Given the description of an element on the screen output the (x, y) to click on. 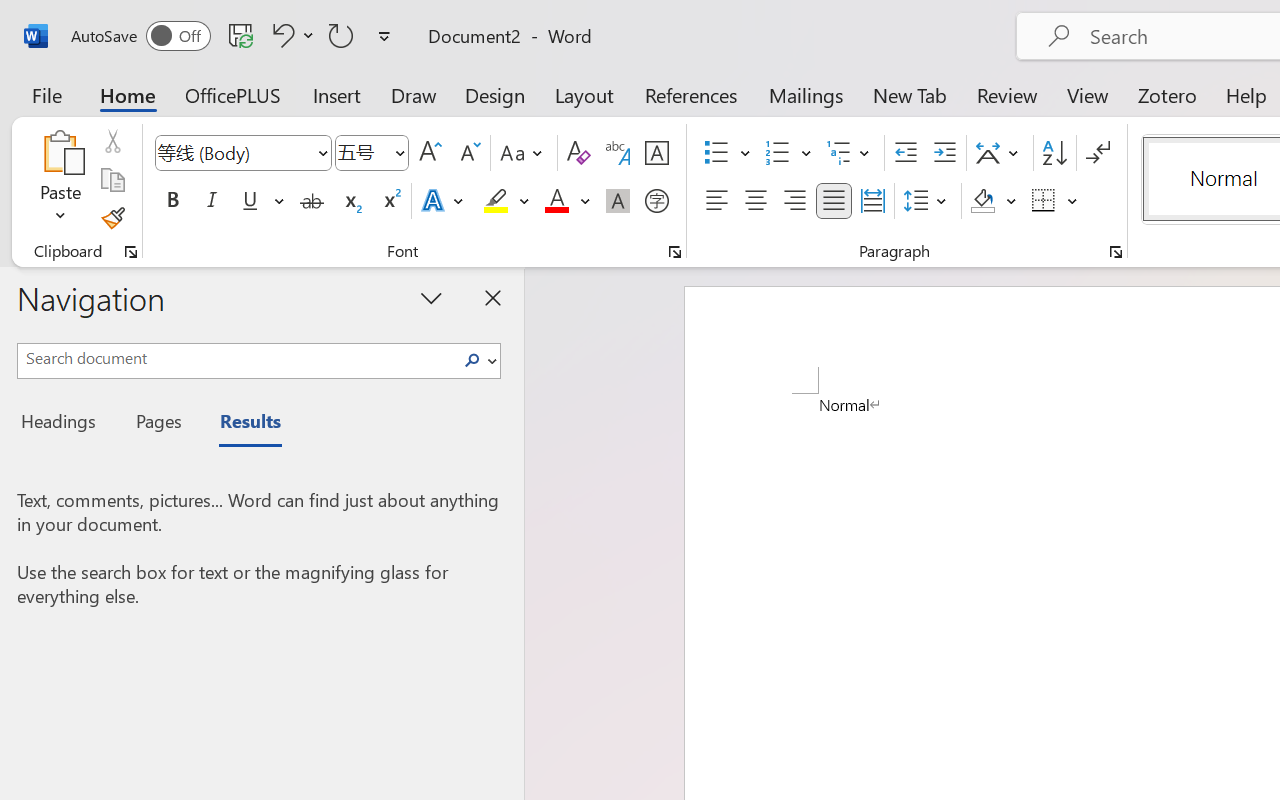
Character Shading (618, 201)
Home (127, 94)
Review (1007, 94)
Shading RGB(0, 0, 0) (982, 201)
Font Size (362, 152)
Customize Quick Access Toolbar (384, 35)
Text Highlight Color (506, 201)
Character Border (656, 153)
Enclose Characters... (656, 201)
Draw (413, 94)
AutoSave (140, 35)
Save (241, 35)
Superscript (390, 201)
Search (478, 360)
